Given the description of an element on the screen output the (x, y) to click on. 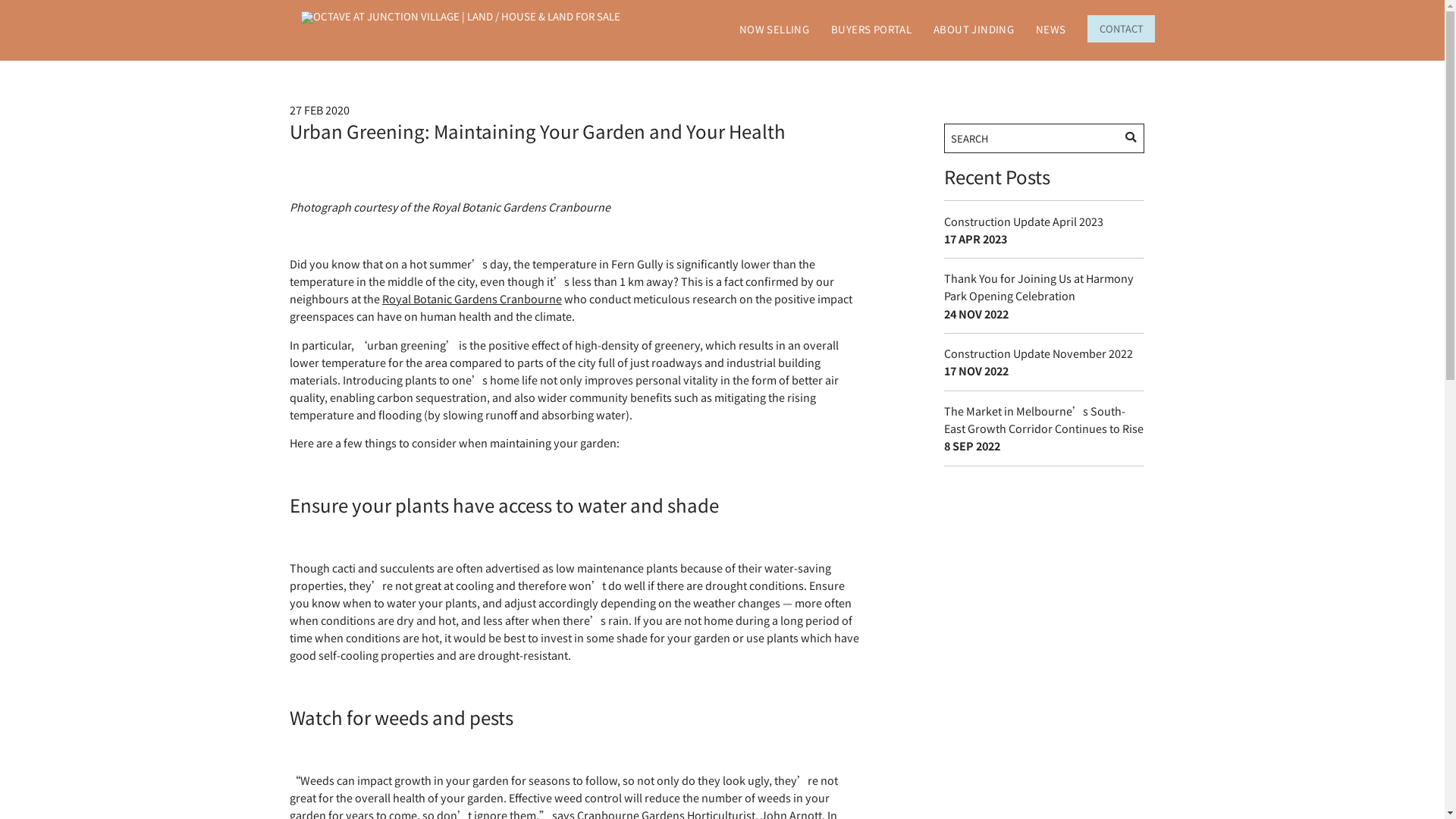
BUYERS PORTAL Element type: text (871, 30)
Construction Update November 2022 Element type: text (1038, 352)
Royal Botanic Gardens Cranbourne Element type: text (471, 298)
ABOUT JINDING Element type: text (973, 30)
CONTACT Element type: text (1120, 28)
NOW SELLING Element type: text (774, 30)
Thank You for Joining Us at Harmony Park Opening Celebration Element type: text (1038, 286)
Construction Update April 2023 Element type: text (1023, 221)
NEWS Element type: text (1050, 30)
